Given the description of an element on the screen output the (x, y) to click on. 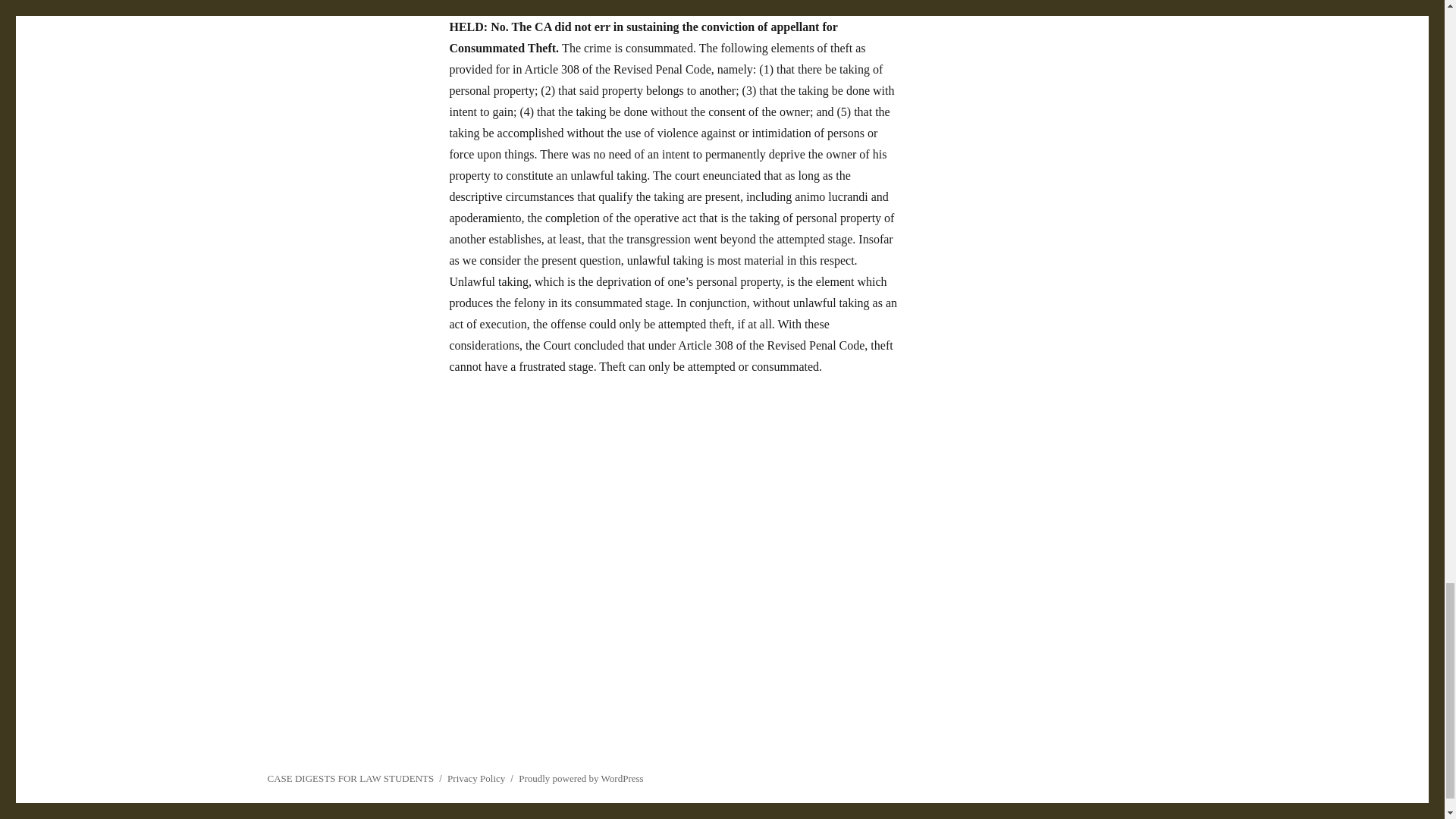
Advertisement (721, 725)
